Given the description of an element on the screen output the (x, y) to click on. 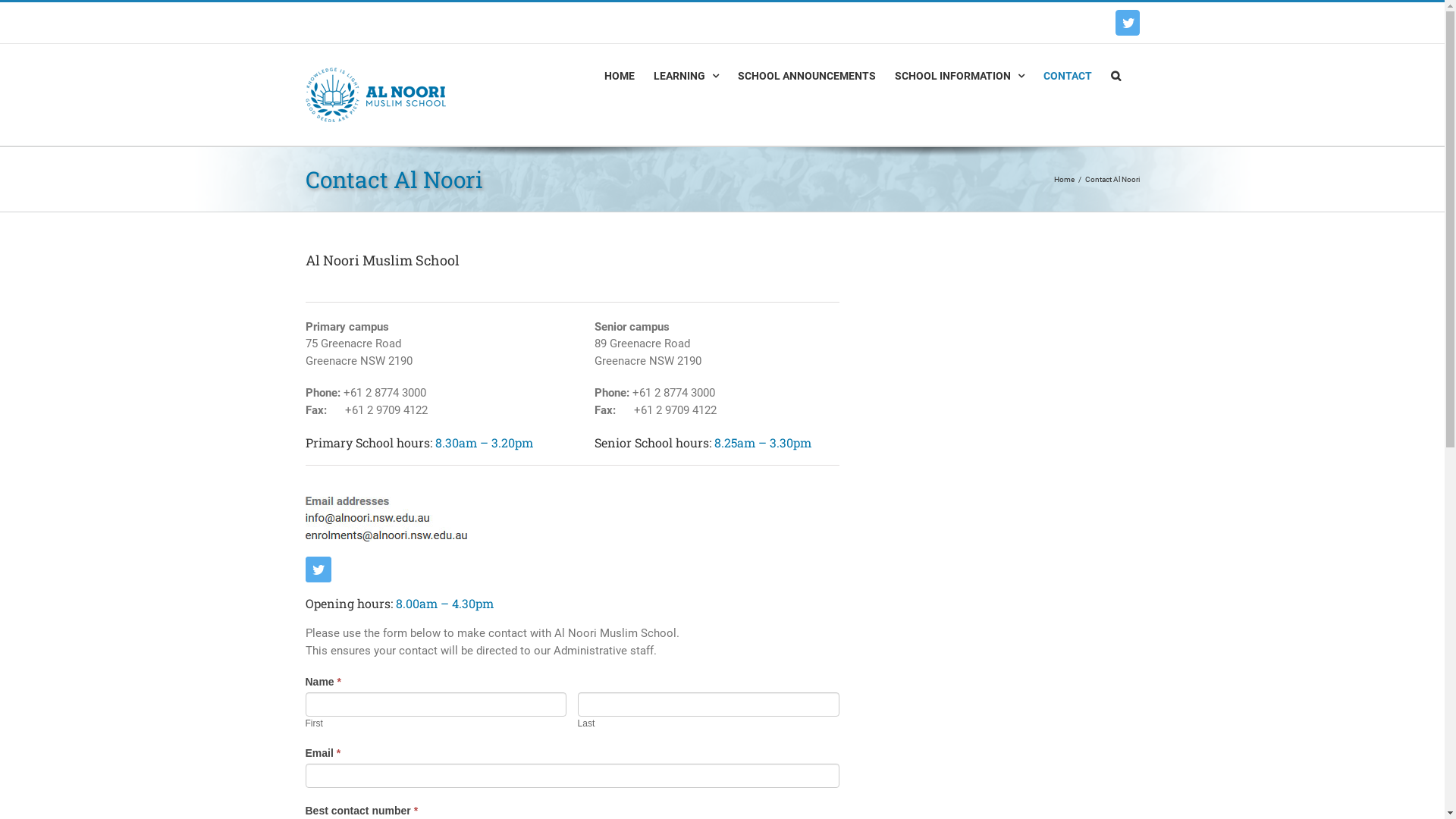
Home Element type: text (1064, 179)
Search Element type: hover (1115, 74)
Twitter Element type: text (1126, 22)
CONTACT Element type: text (1067, 74)
HOME Element type: text (618, 74)
SCHOOL INFORMATION Element type: text (959, 74)
SCHOOL ANNOUNCEMENTS Element type: text (806, 74)
LEARNING Element type: text (685, 74)
